Given the description of an element on the screen output the (x, y) to click on. 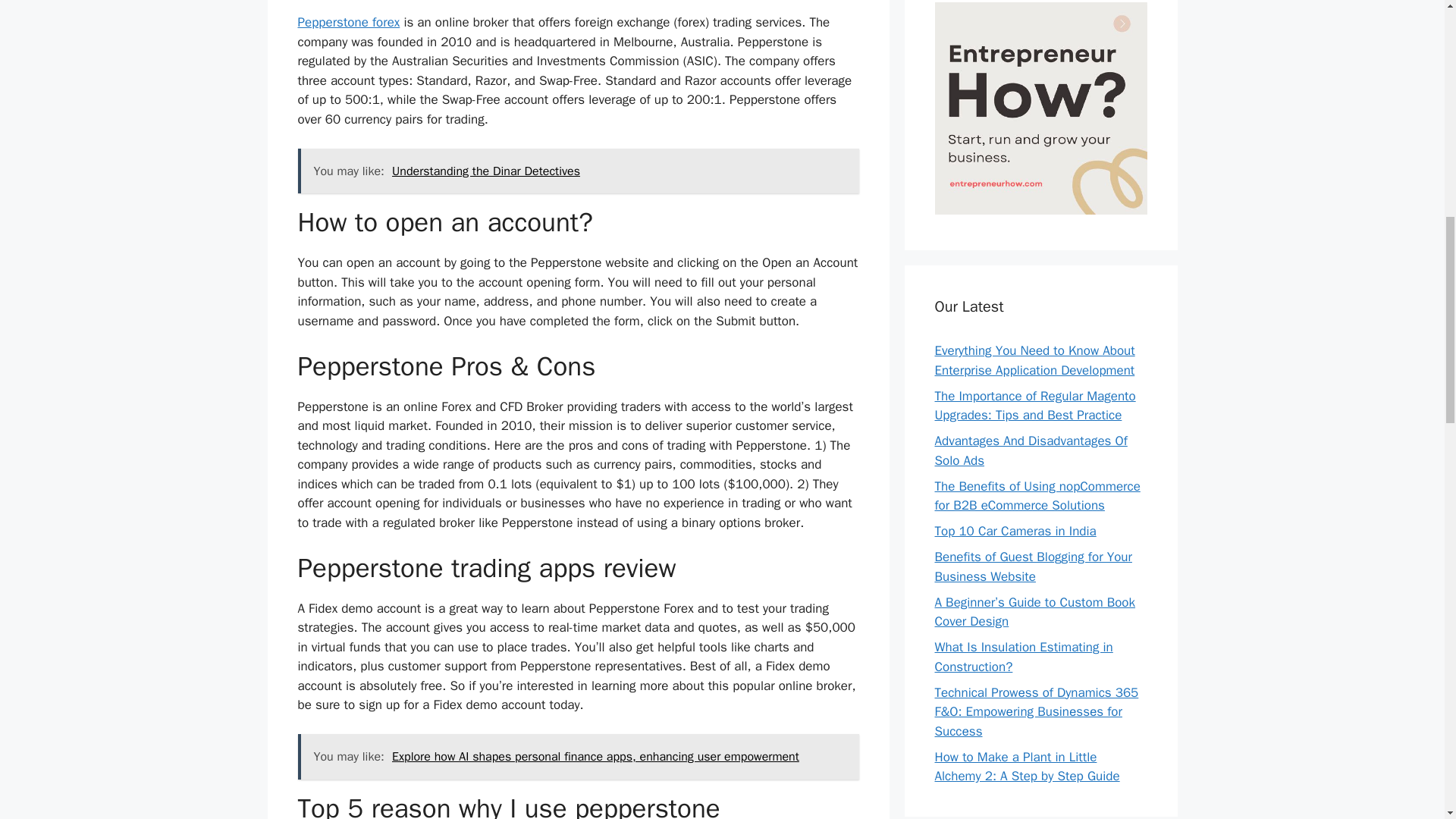
You may like:  Understanding the Dinar Detectives (578, 171)
Pepperstone forex (347, 22)
Top 10 Car Cameras in India (1015, 530)
Advantages And Disadvantages Of Solo Ads (1030, 450)
Entrepreneur How (1040, 209)
